Given the description of an element on the screen output the (x, y) to click on. 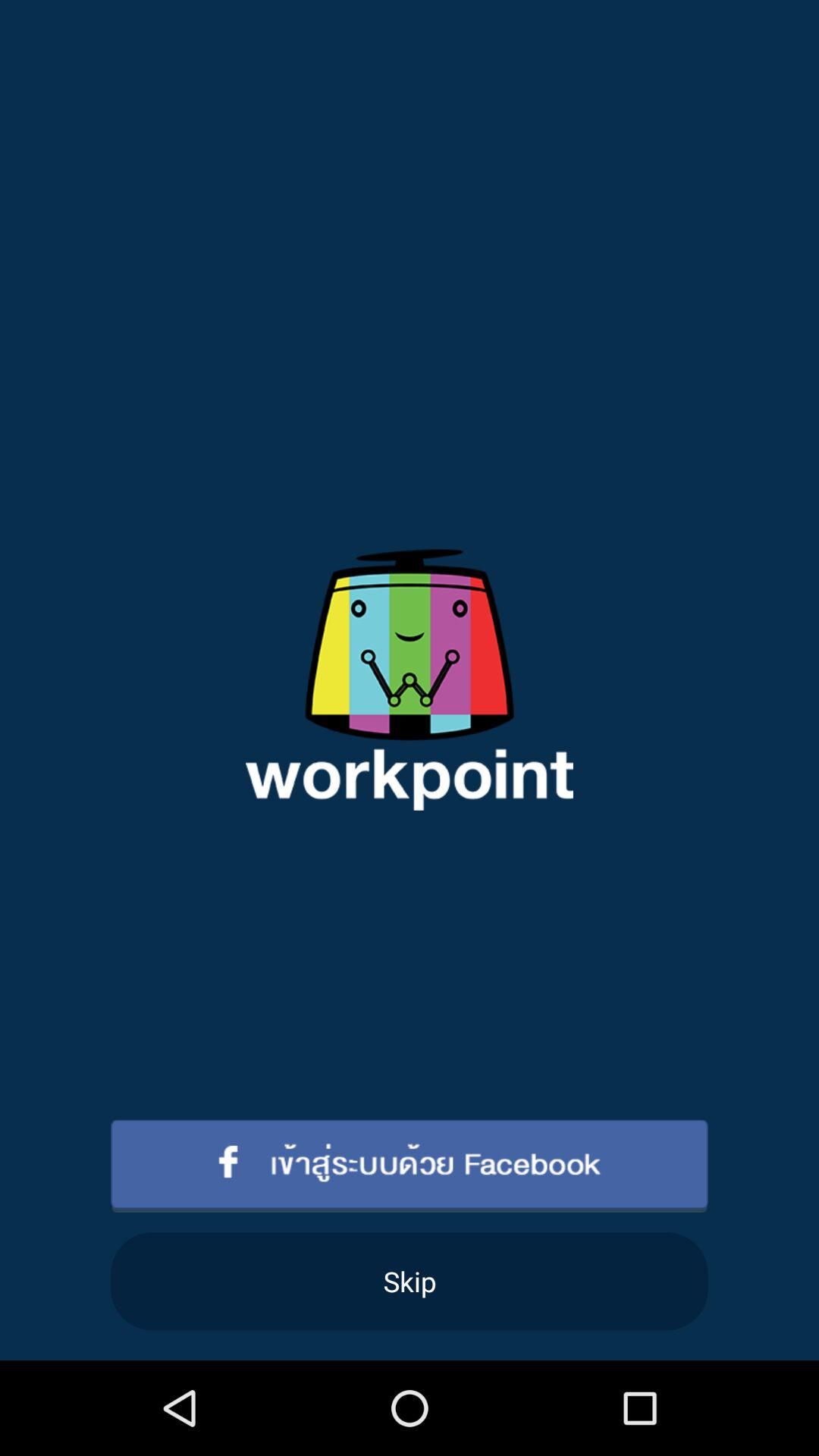
jump until skip icon (409, 1281)
